Given the description of an element on the screen output the (x, y) to click on. 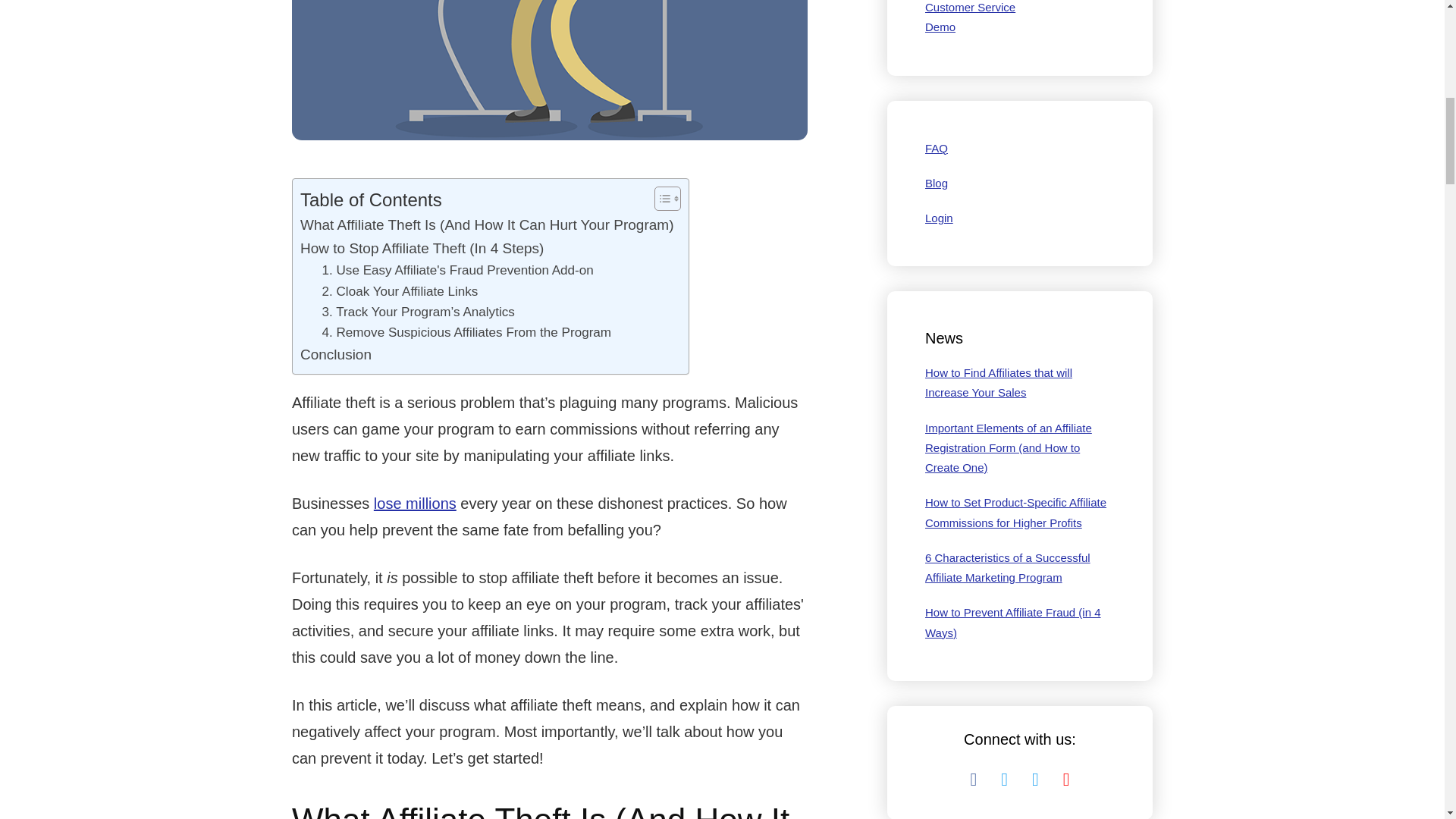
2. Cloak Your Affiliate Links (399, 291)
Conclusion (335, 354)
4. Remove Suspicious Affiliates From the Program (466, 332)
4. Remove Suspicious Affiliates From the Program (466, 332)
Conclusion (335, 354)
1. Use Easy Affiliate's Fraud Prevention Add-on (456, 270)
lose millions (415, 503)
1. Use Easy Affiliate's Fraud Prevention Add-on (456, 270)
2. Cloak Your Affiliate Links (399, 291)
Frequently Asked Questions (935, 147)
